Given the description of an element on the screen output the (x, y) to click on. 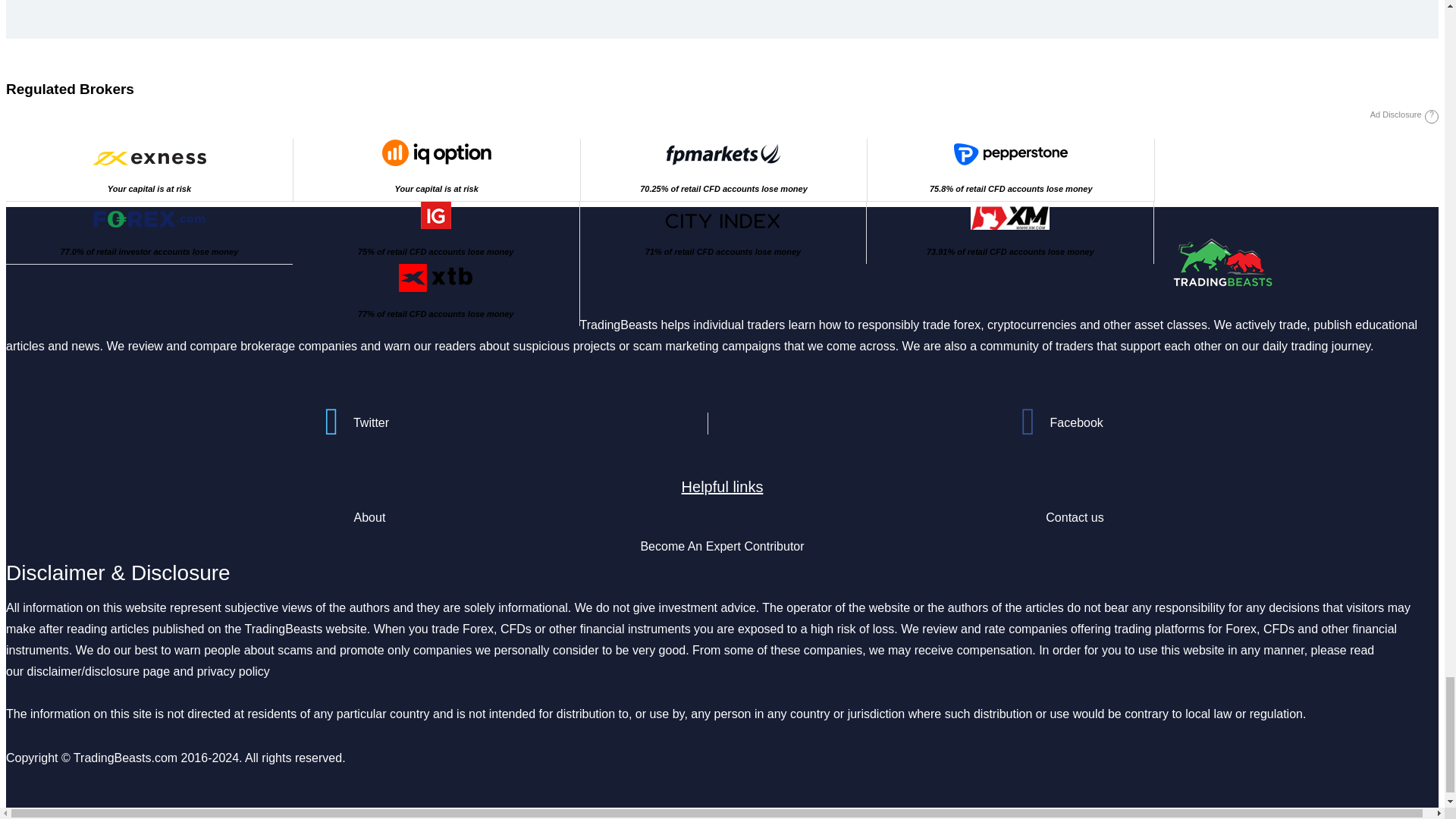
tradingbeasts.com (1222, 261)
XM (1010, 215)
CityIndex (721, 220)
XTB (434, 277)
exness (149, 158)
IG (435, 215)
Pepperstone (1010, 154)
Forex.com (149, 218)
FP Markets (723, 154)
IQ Option (436, 152)
